Given the description of an element on the screen output the (x, y) to click on. 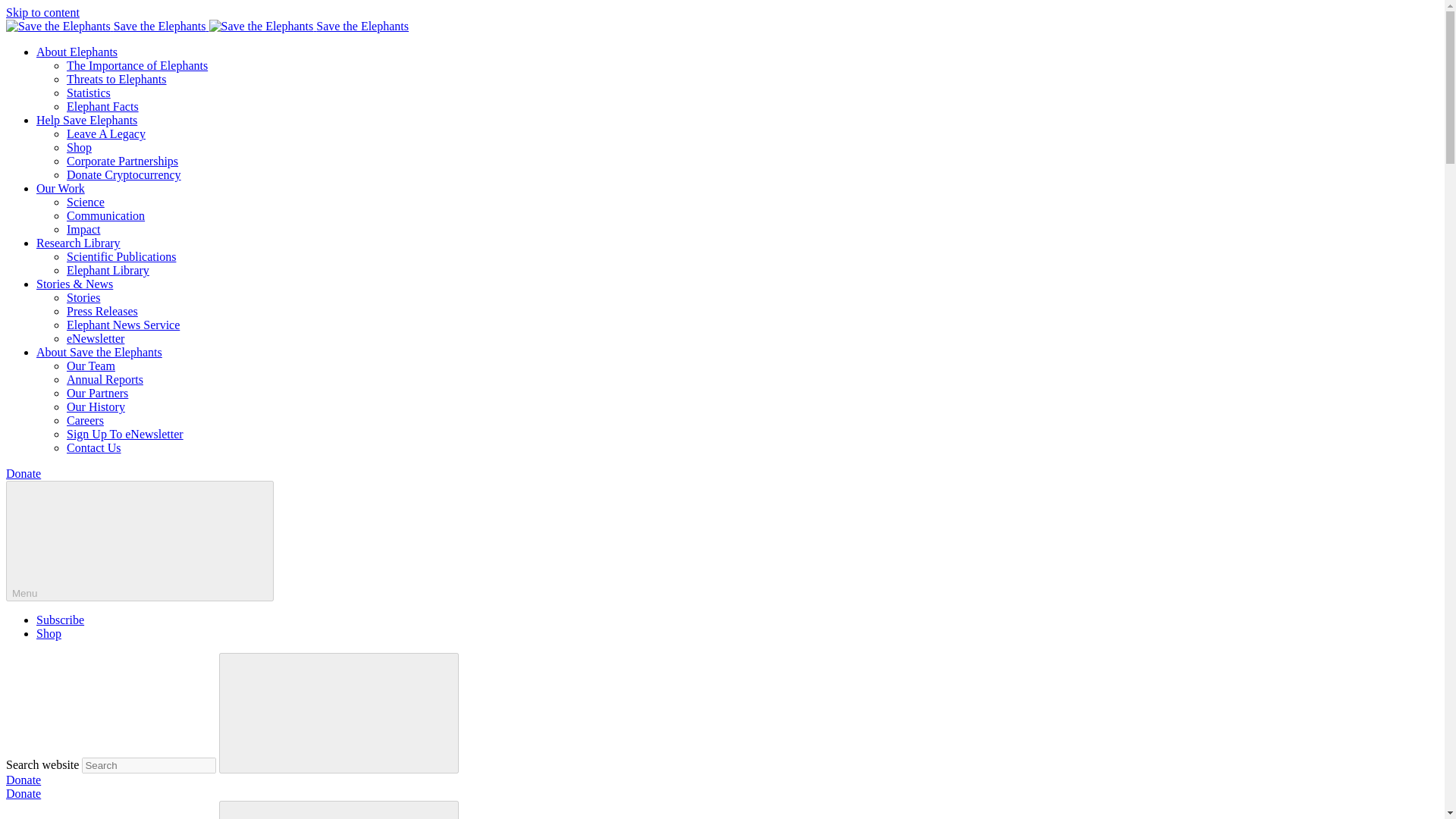
Contact Us (93, 447)
Science (85, 201)
Shop (48, 633)
Elephant News Service (122, 324)
Corporate Partnerships (121, 160)
eNewsletter (94, 338)
Communication (105, 215)
Donate (22, 779)
About Elephants (76, 51)
Menu (139, 540)
Sign Up To eNewsletter (124, 433)
Statistics (88, 92)
Leave A Legacy (105, 133)
Elephant Library (107, 269)
Our History (95, 406)
